Given the description of an element on the screen output the (x, y) to click on. 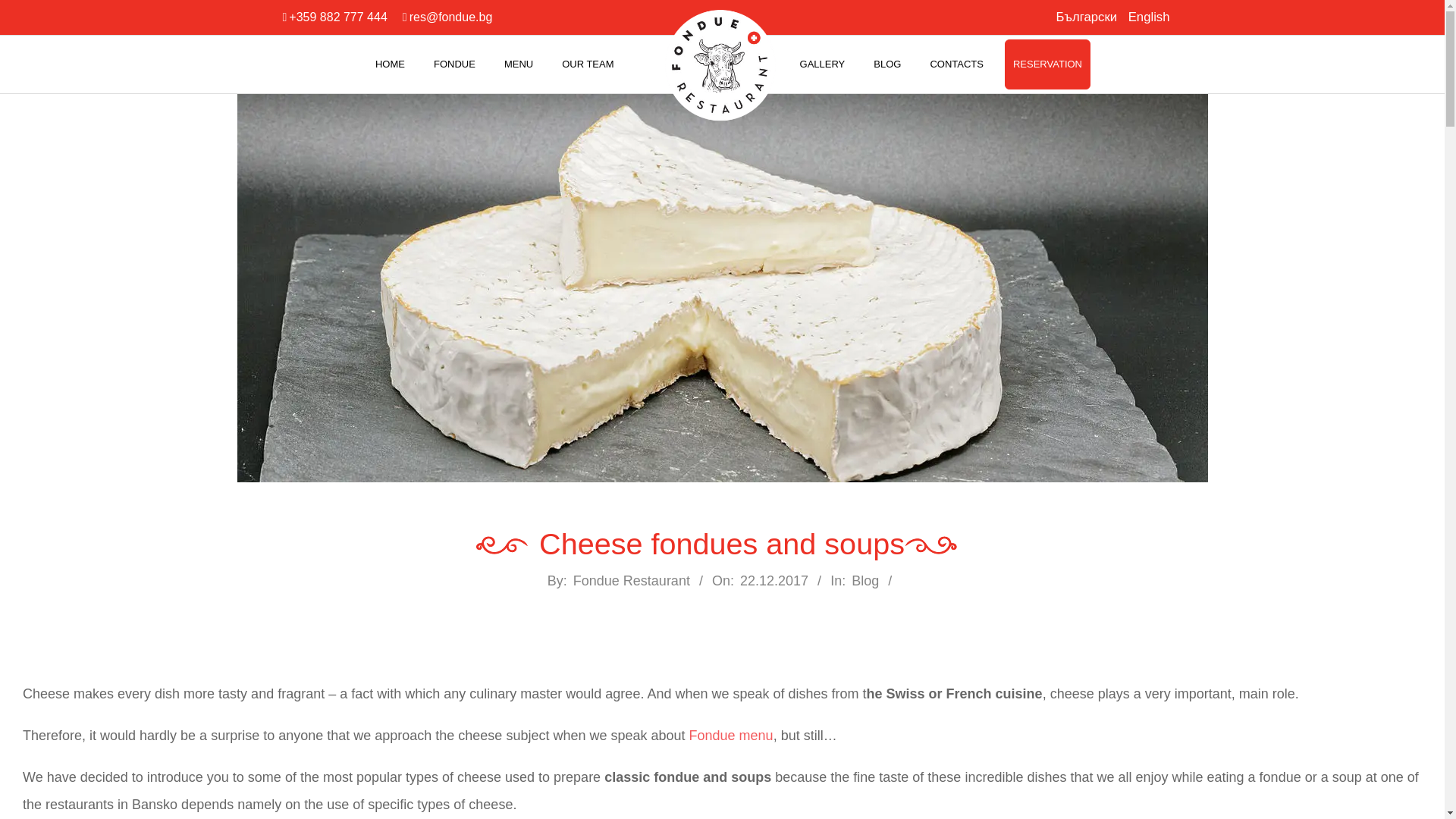
Fondue menu (730, 735)
RESERVATION (1047, 63)
Posts by Fondue Restaurant (631, 580)
Fondue Restaurant (631, 580)
English (1149, 16)
GALLERY (822, 64)
CONTACTS (956, 64)
OUR TEAM (587, 64)
FONDUE (454, 64)
Blog (865, 580)
Friday, December 22, 2017, 4:27 pm (773, 580)
